Given the description of an element on the screen output the (x, y) to click on. 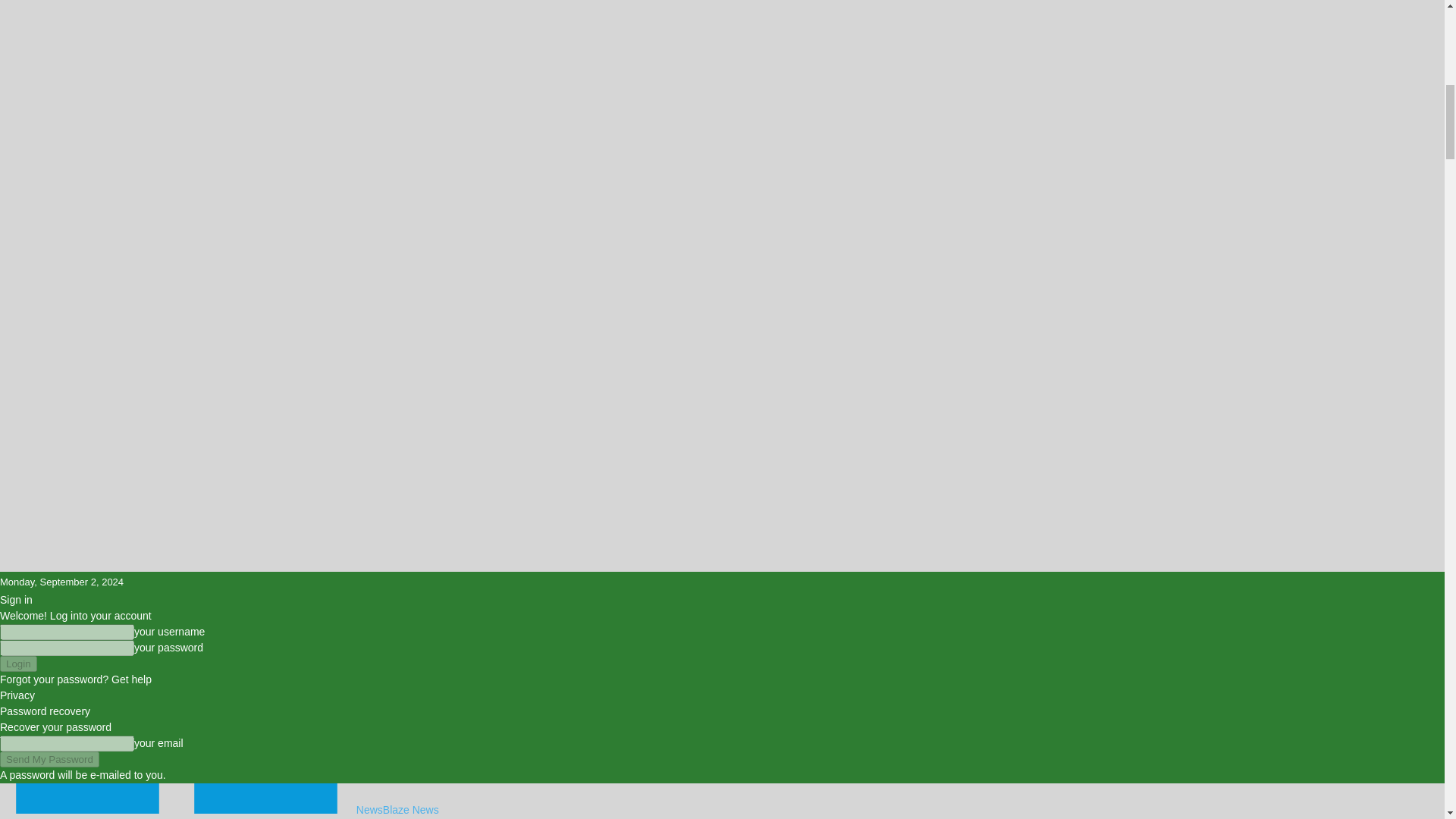
NewsBlaze News logo (87, 798)
NewsBlaze News logo (265, 798)
Send My Password (49, 759)
Login (18, 663)
